Given the description of an element on the screen output the (x, y) to click on. 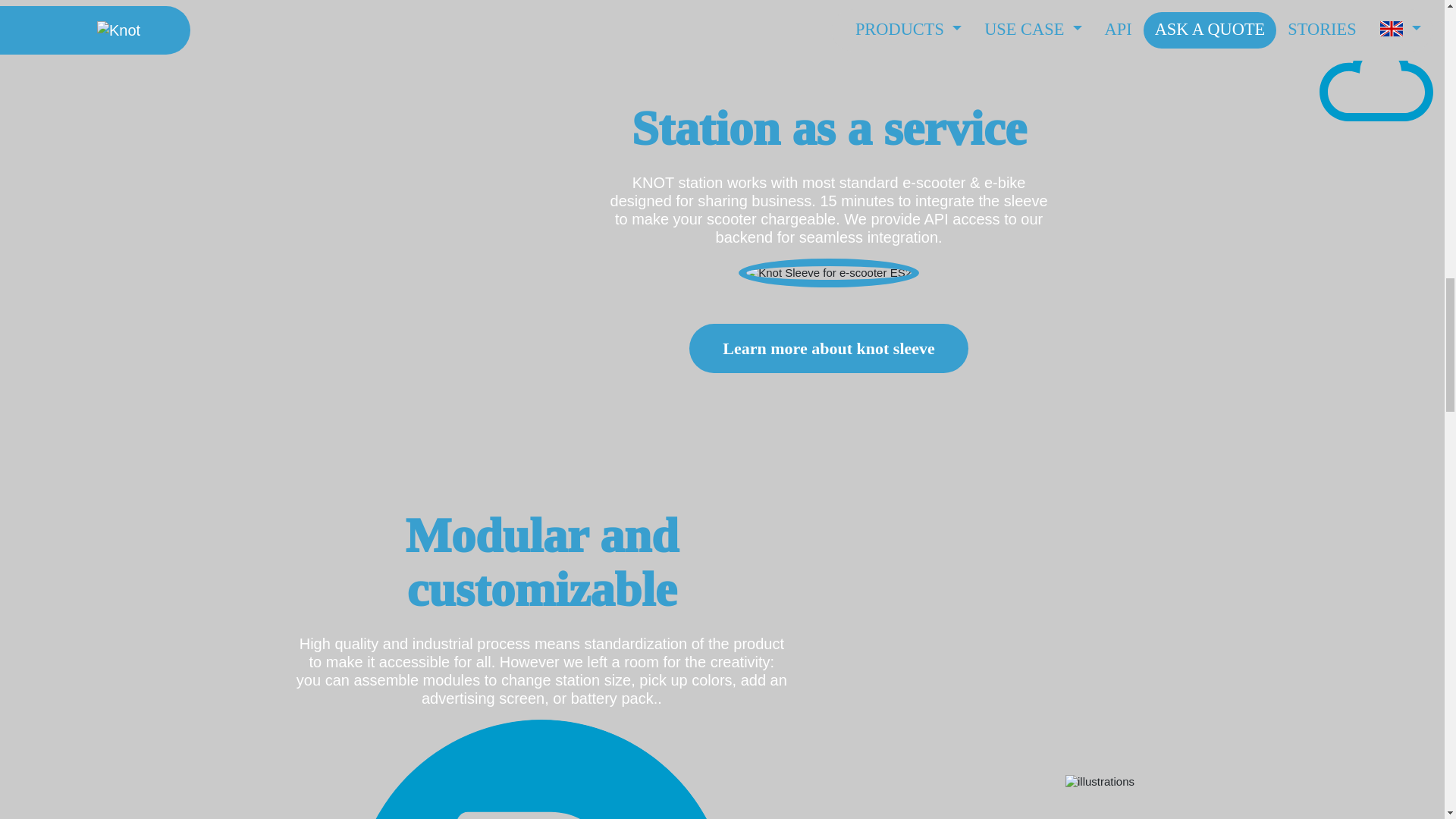
Learn more about knot sleeve (828, 348)
